Given the description of an element on the screen output the (x, y) to click on. 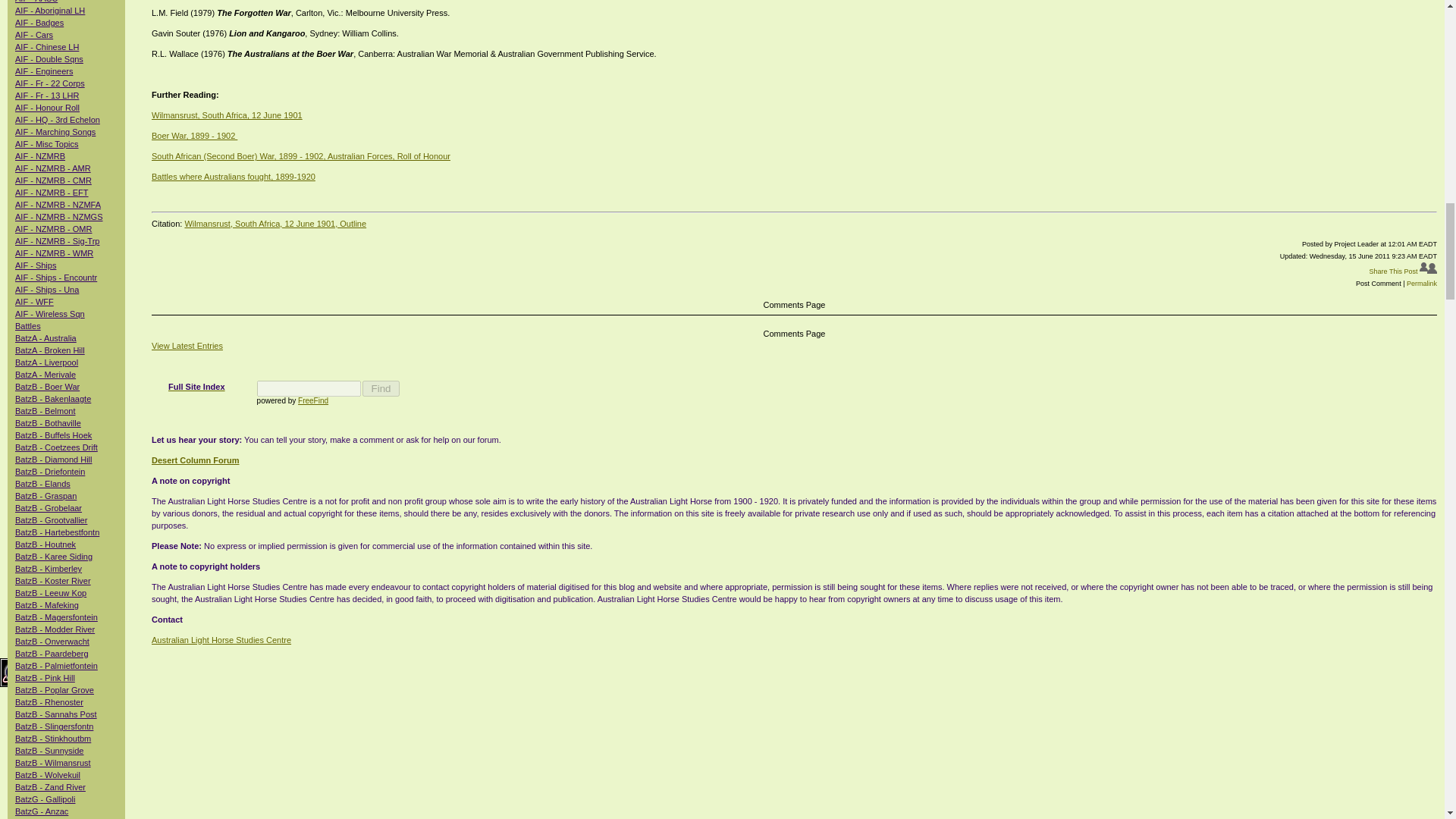
 Find  (380, 388)
